Given the description of an element on the screen output the (x, y) to click on. 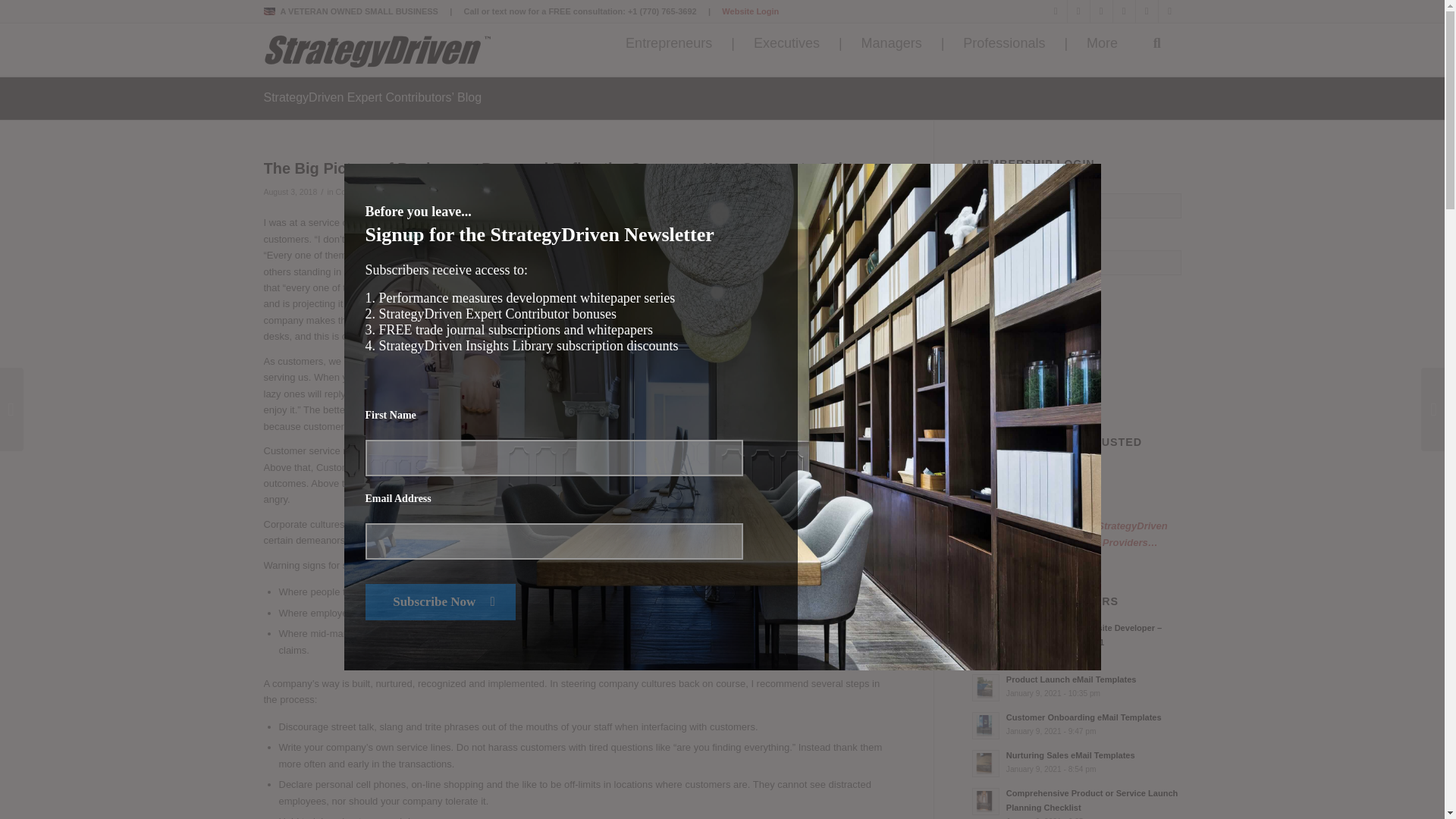
Posts by Hank Moore (445, 191)
Pinterest (1169, 11)
LinkedIn (1056, 11)
StrategyDriven - a veteran owned small business (272, 11)
Youtube (1078, 11)
Twitter (1101, 11)
Entrepreneurs (668, 43)
forever (980, 297)
Website Login (750, 10)
Instagram (1146, 11)
Log In (1002, 330)
Facebook (1124, 11)
